Given the description of an element on the screen output the (x, y) to click on. 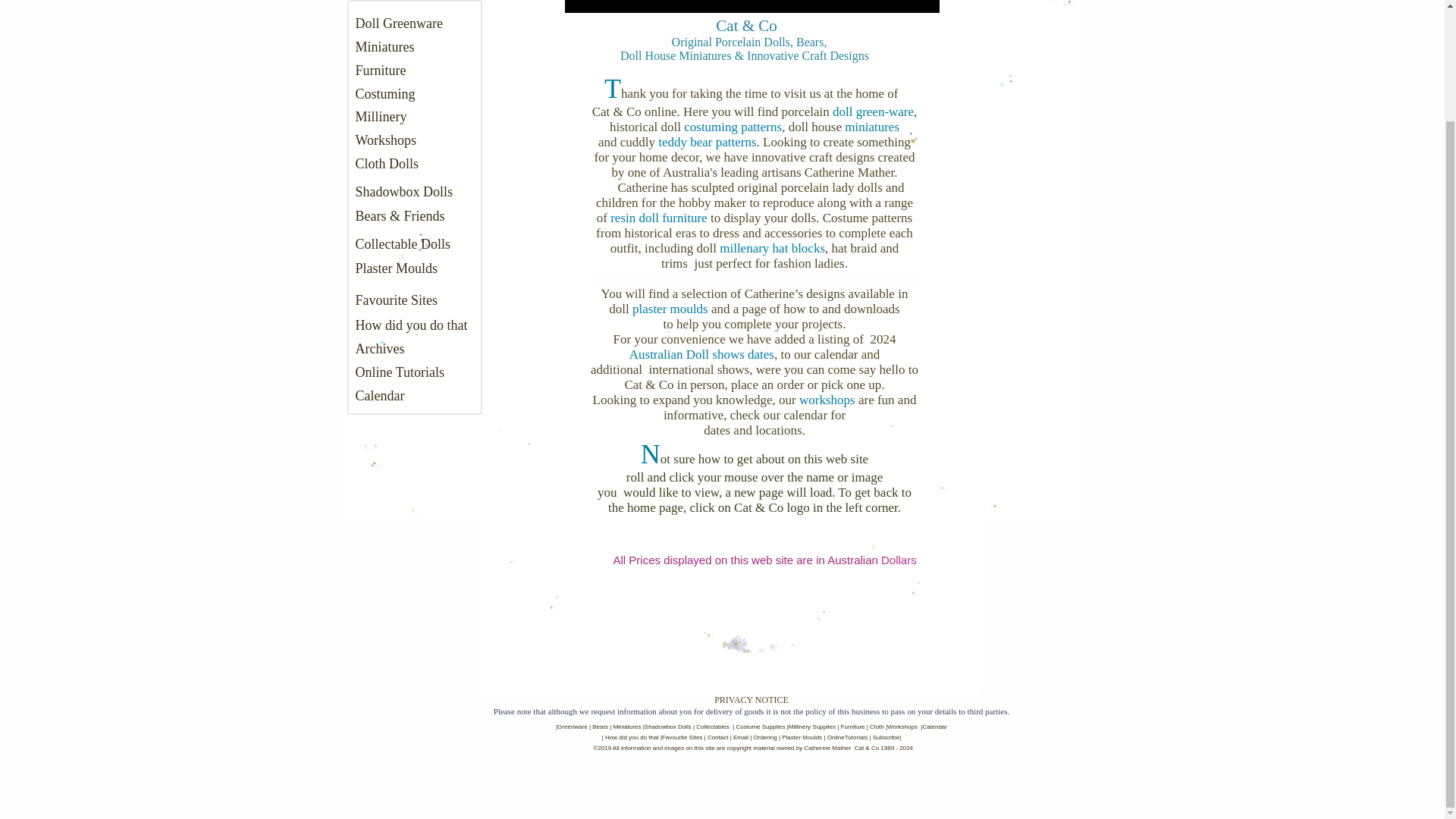
miniatures (871, 126)
teddy bear patterns (706, 142)
Favourite Sites (396, 299)
Workshops (385, 140)
Millinery (380, 116)
How did you do that (411, 324)
Furniture (380, 70)
Miniatures (384, 46)
costuming patterns (732, 126)
doll green-ware (873, 111)
Doll Greenware (398, 23)
resin doll furniture (660, 217)
Australian Doll shows dates (701, 354)
millenary hat blocks (772, 247)
Shadowbox Dolls (403, 191)
